Given the description of an element on the screen output the (x, y) to click on. 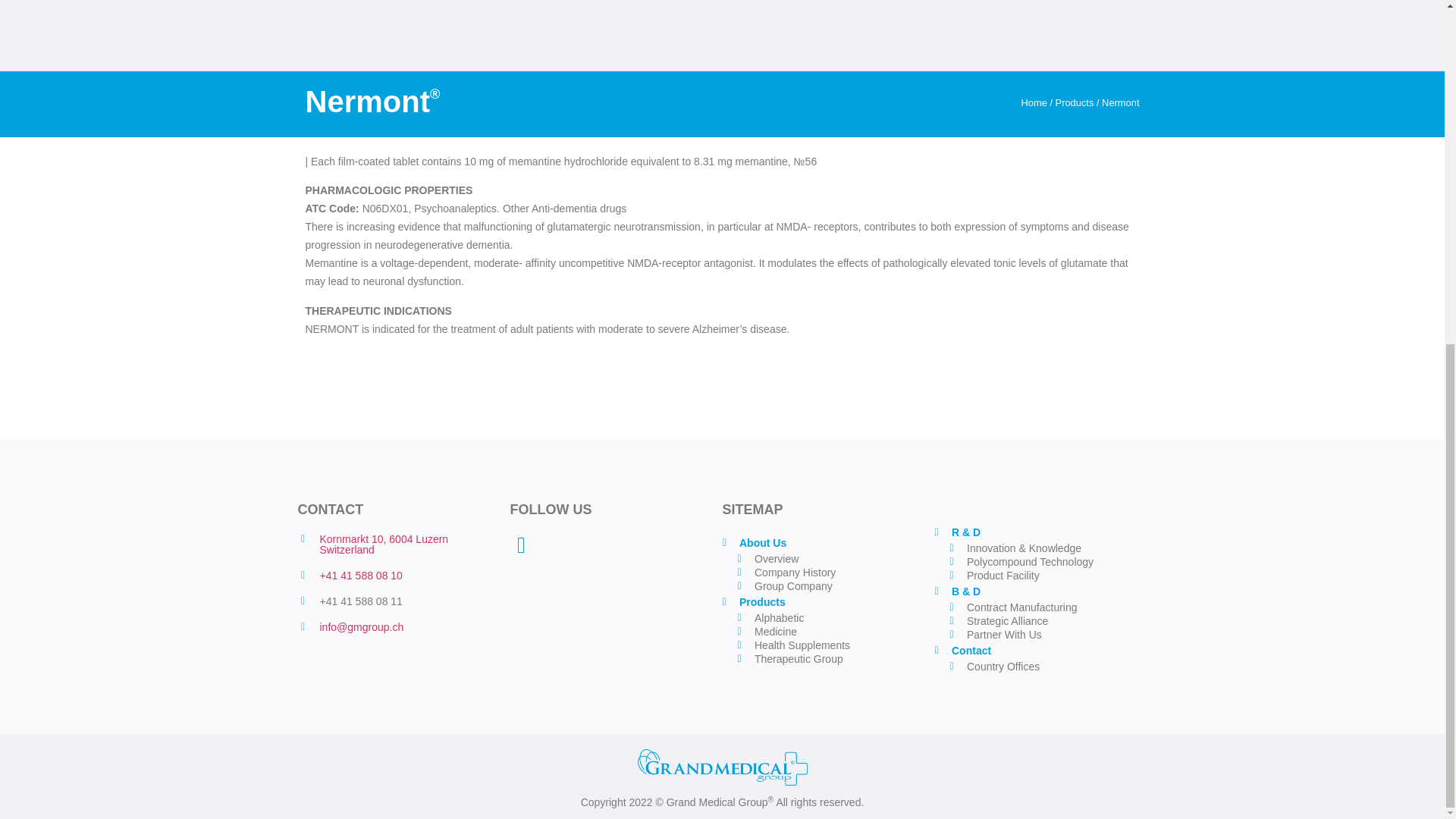
nermont (722, 21)
